Given the description of an element on the screen output the (x, y) to click on. 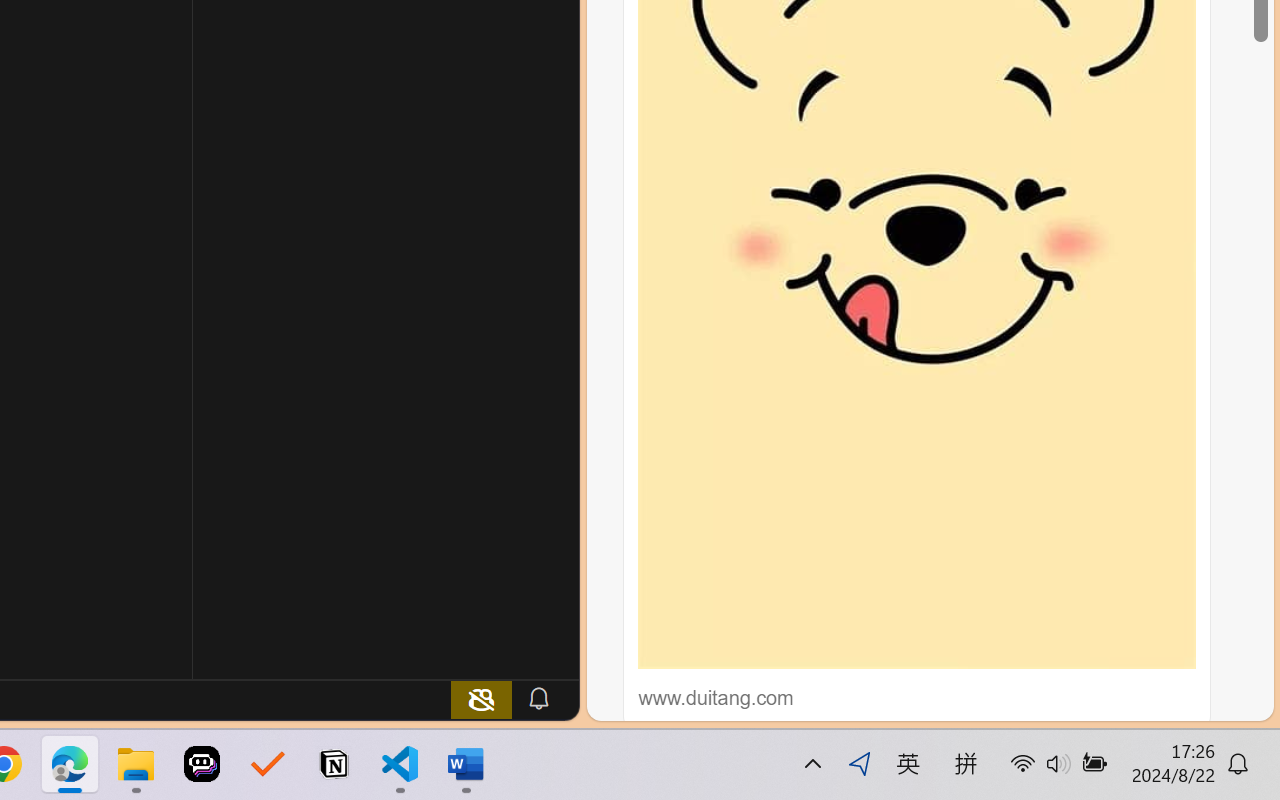
copilot-notconnected, Copilot error (click for details) (481, 698)
Notifications (537, 698)
